Given the description of an element on the screen output the (x, y) to click on. 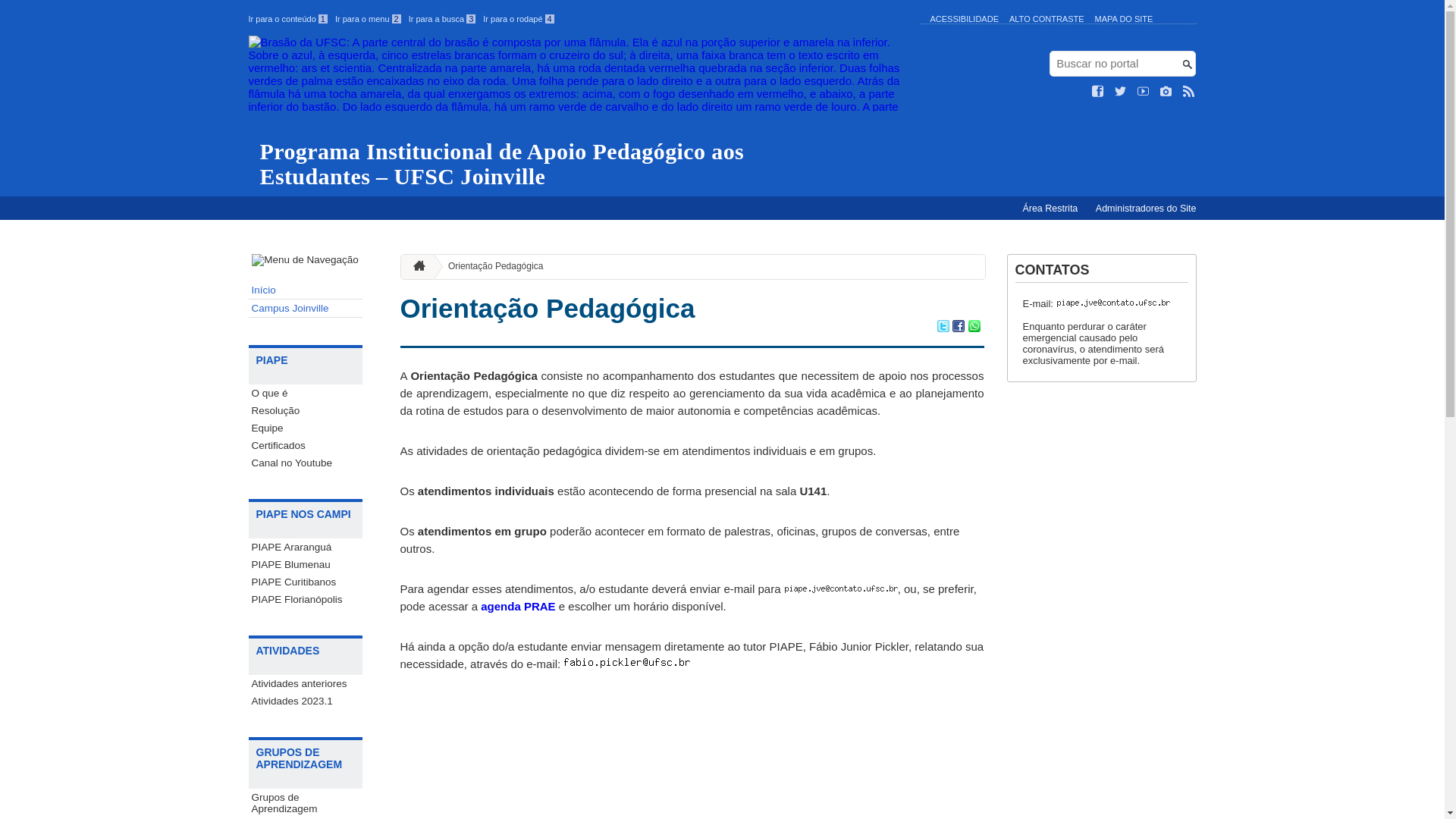
PIAPE Curitibanos Element type: text (305, 581)
Veja no Instagram Element type: hover (1166, 91)
Administradores do Site Element type: text (1146, 208)
Compartilhar no Twitter Element type: hover (943, 327)
Curta no Facebook Element type: hover (1098, 91)
Certificados Element type: text (305, 445)
Campus Joinville Element type: text (305, 308)
Compartilhar no WhatsApp Element type: hover (973, 327)
Ir para a busca 3 Element type: text (442, 18)
MAPA DO SITE Element type: text (1124, 18)
Equipe Element type: text (305, 427)
Compartilhar no Facebook Element type: hover (958, 327)
PIAPE Blumenau Element type: text (305, 564)
Siga no Twitter Element type: hover (1120, 91)
Atividades anteriores Element type: text (305, 683)
Atividades 2023.1 Element type: text (305, 700)
Canal no Youtube Element type: text (305, 462)
agenda PRAE Element type: text (517, 605)
Ir para o menu 2 Element type: text (368, 18)
ACESSIBILIDADE Element type: text (963, 18)
Grupos de Aprendizagem Element type: text (305, 802)
ALTO CONTRASTE Element type: text (1046, 18)
